Given the description of an element on the screen output the (x, y) to click on. 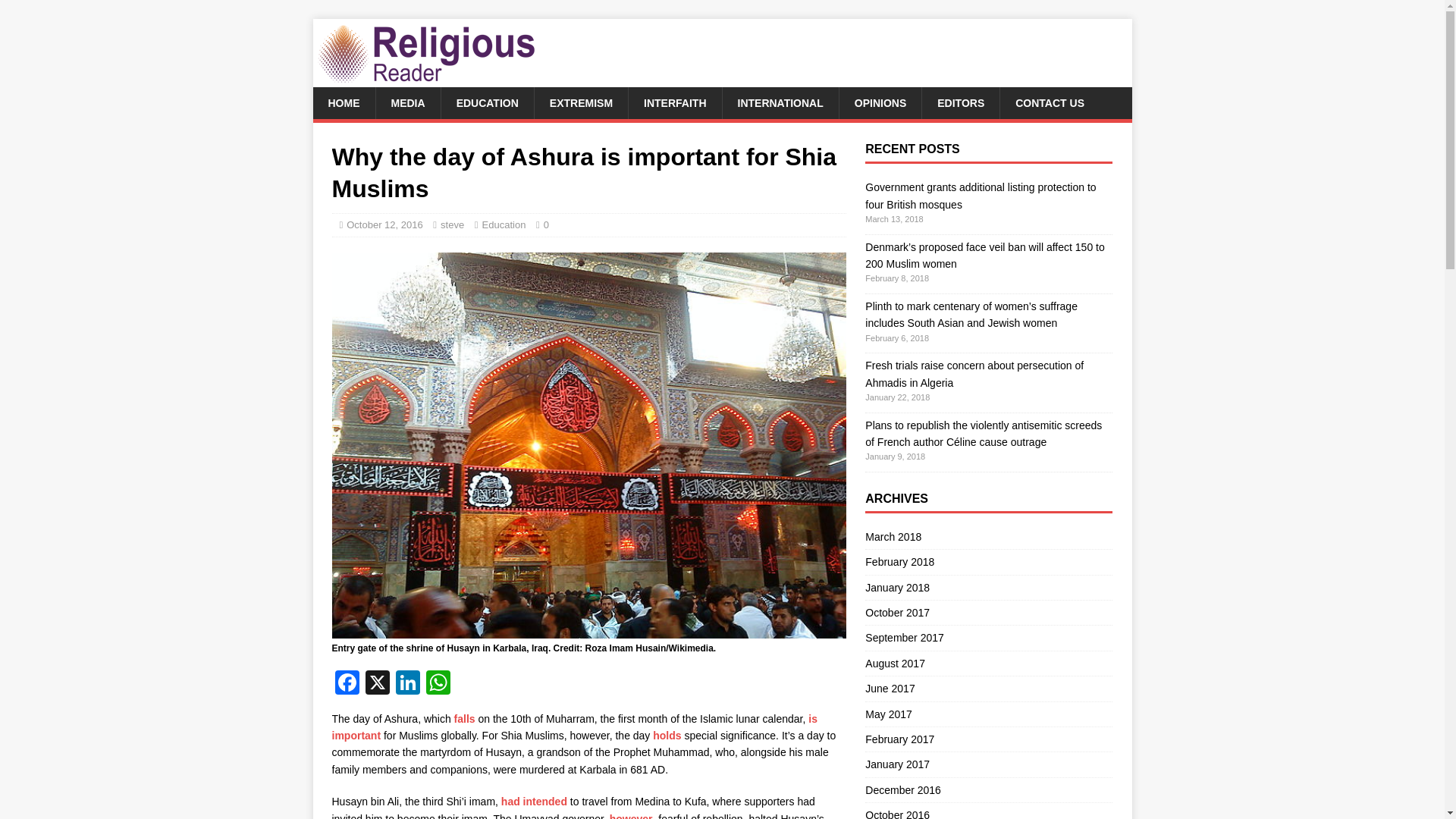
X (377, 684)
MEDIA (406, 102)
INTERNATIONAL (780, 102)
HOME (343, 102)
WhatsApp (437, 684)
October 12, 2016 (384, 224)
WhatsApp (437, 684)
OPINIONS (879, 102)
EDITORS (959, 102)
Education (503, 224)
